Given the description of an element on the screen output the (x, y) to click on. 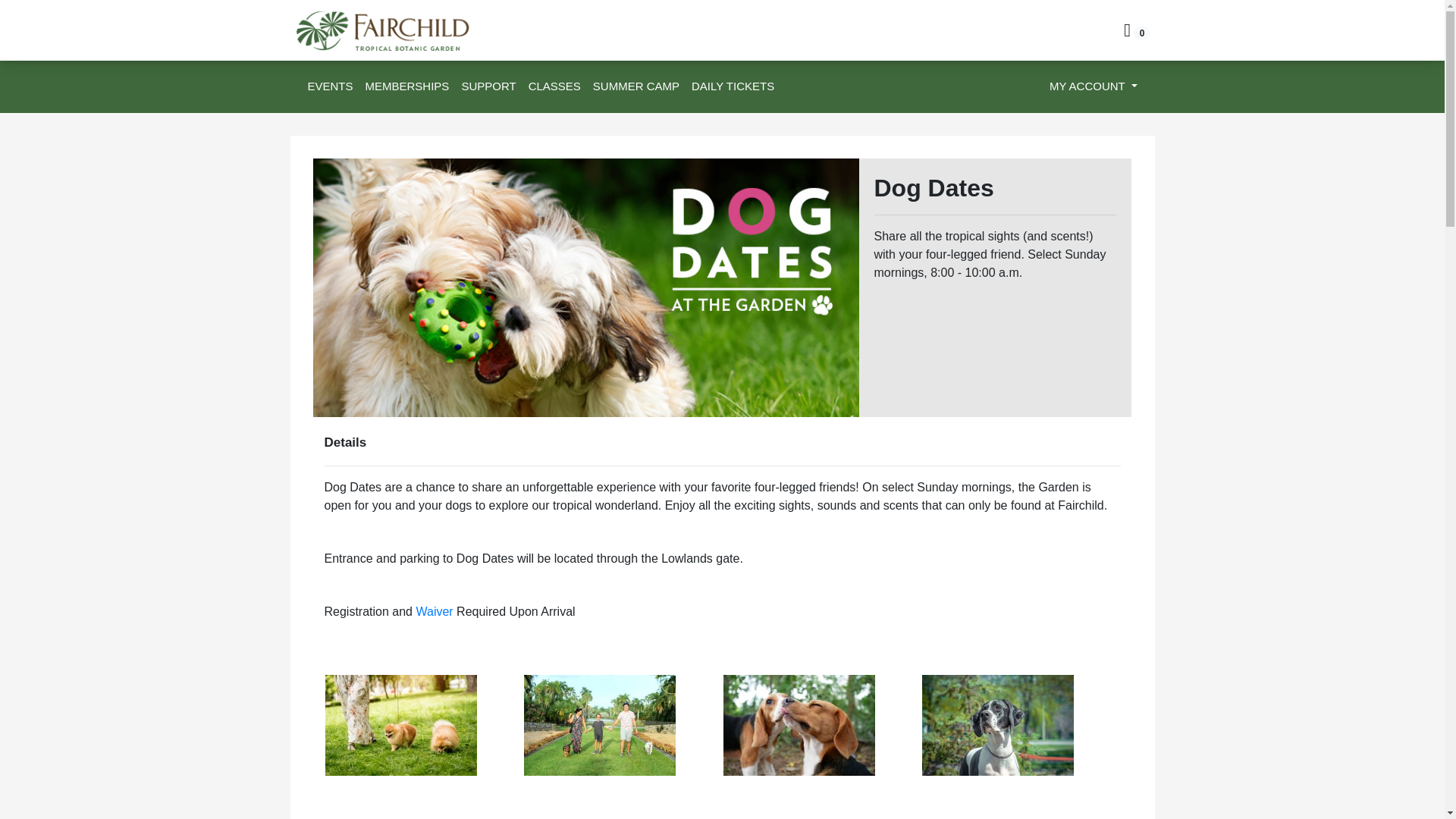
MY ACCOUNT (1092, 86)
MEMBERSHIPS (407, 86)
DAILY TICKETS (732, 86)
SUPPORT (487, 86)
SUMMER CAMP (635, 86)
0 (1137, 31)
EVENTS (330, 86)
CLASSES (554, 86)
